Given the description of an element on the screen output the (x, y) to click on. 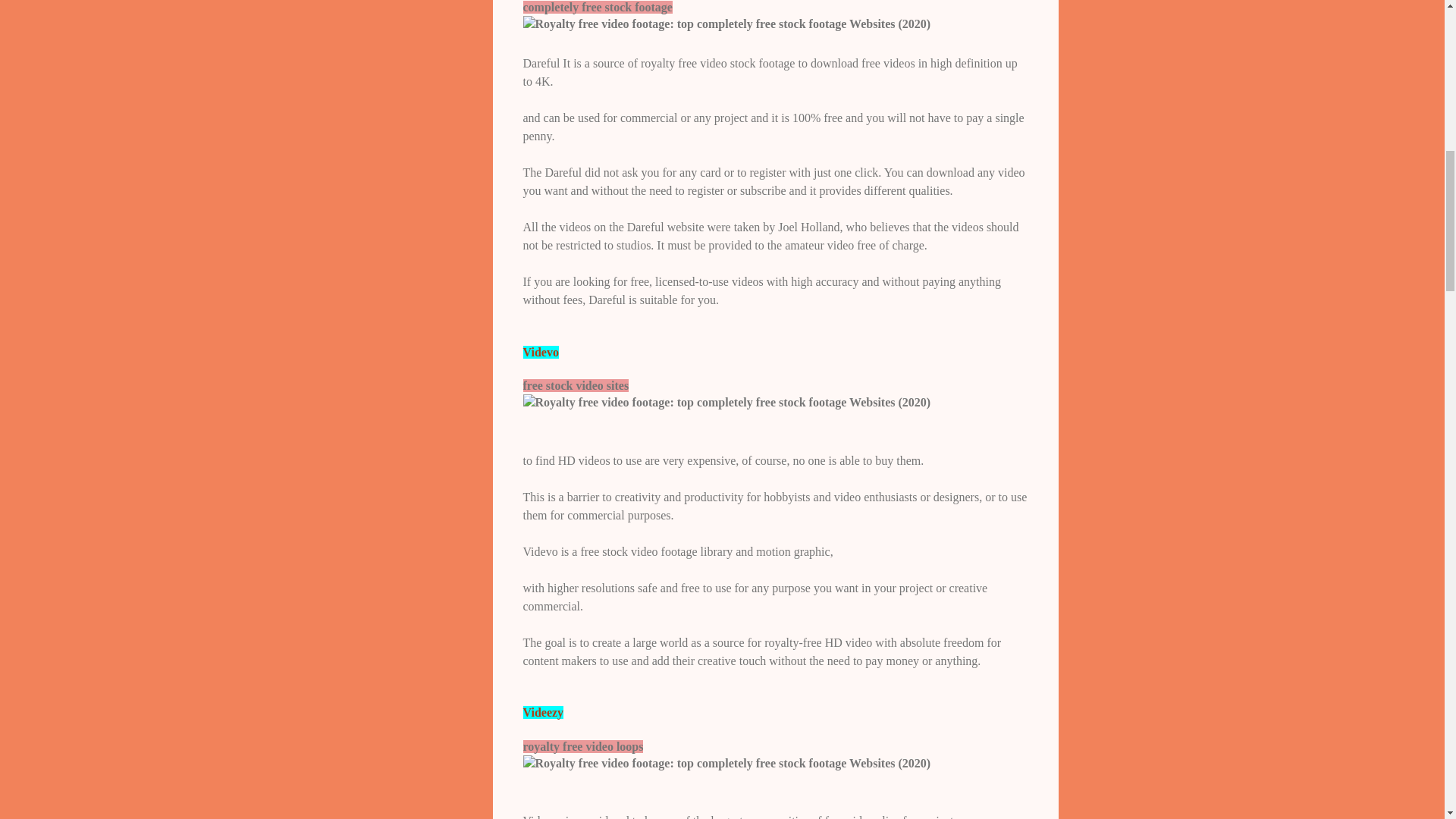
royalty free video loops (726, 763)
Videezy (543, 712)
Videvo (540, 351)
completely free stock footage (726, 23)
free stock video sites (726, 402)
